Given the description of an element on the screen output the (x, y) to click on. 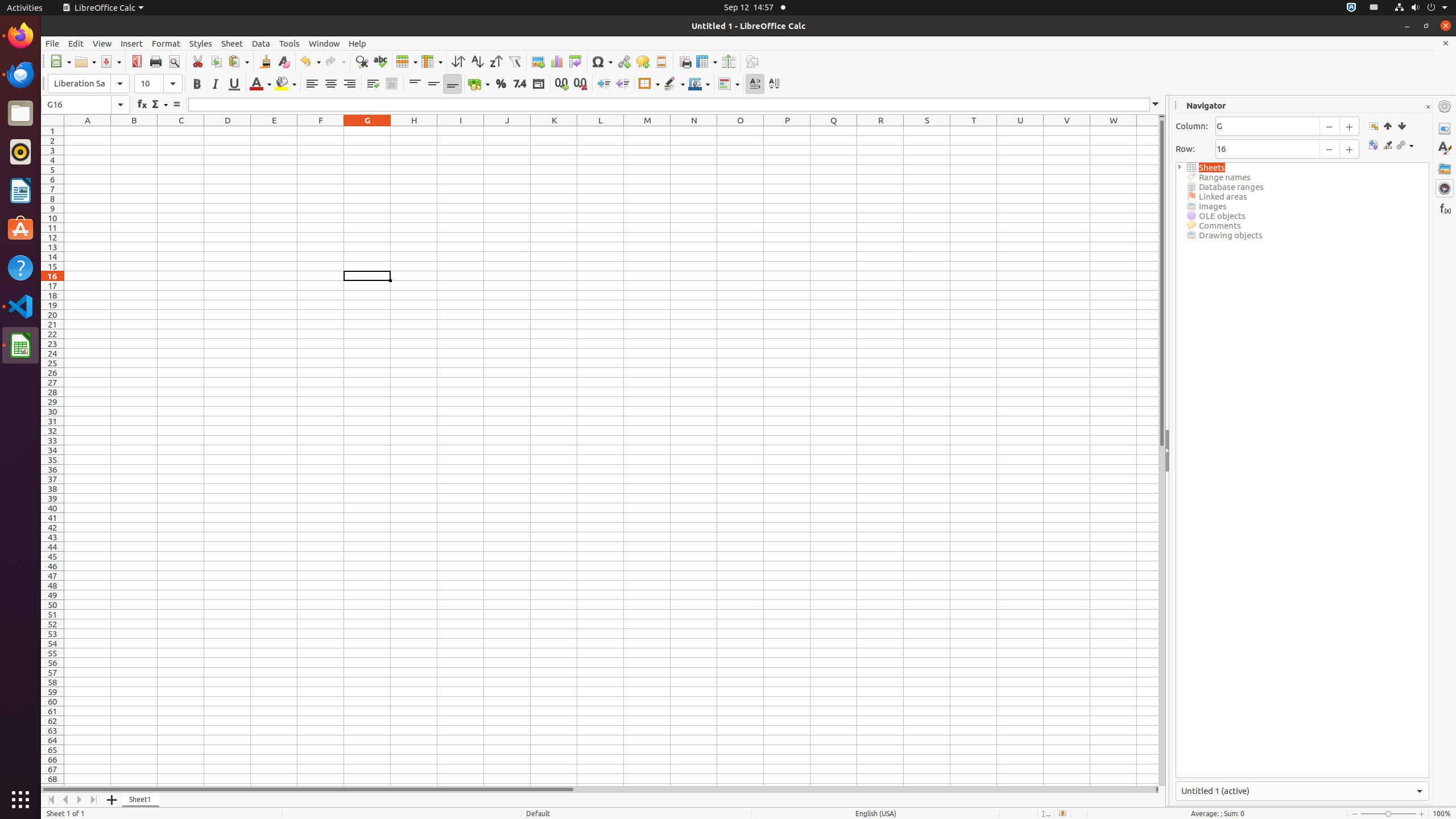
Navigator Element type: radio-button (1444, 188)
Column Element type: push-button (431, 61)
LibreOffice Writer Element type: push-button (20, 190)
Italic Element type: toggle-button (214, 83)
Show Applications Element type: toggle-button (20, 799)
